Given the description of an element on the screen output the (x, y) to click on. 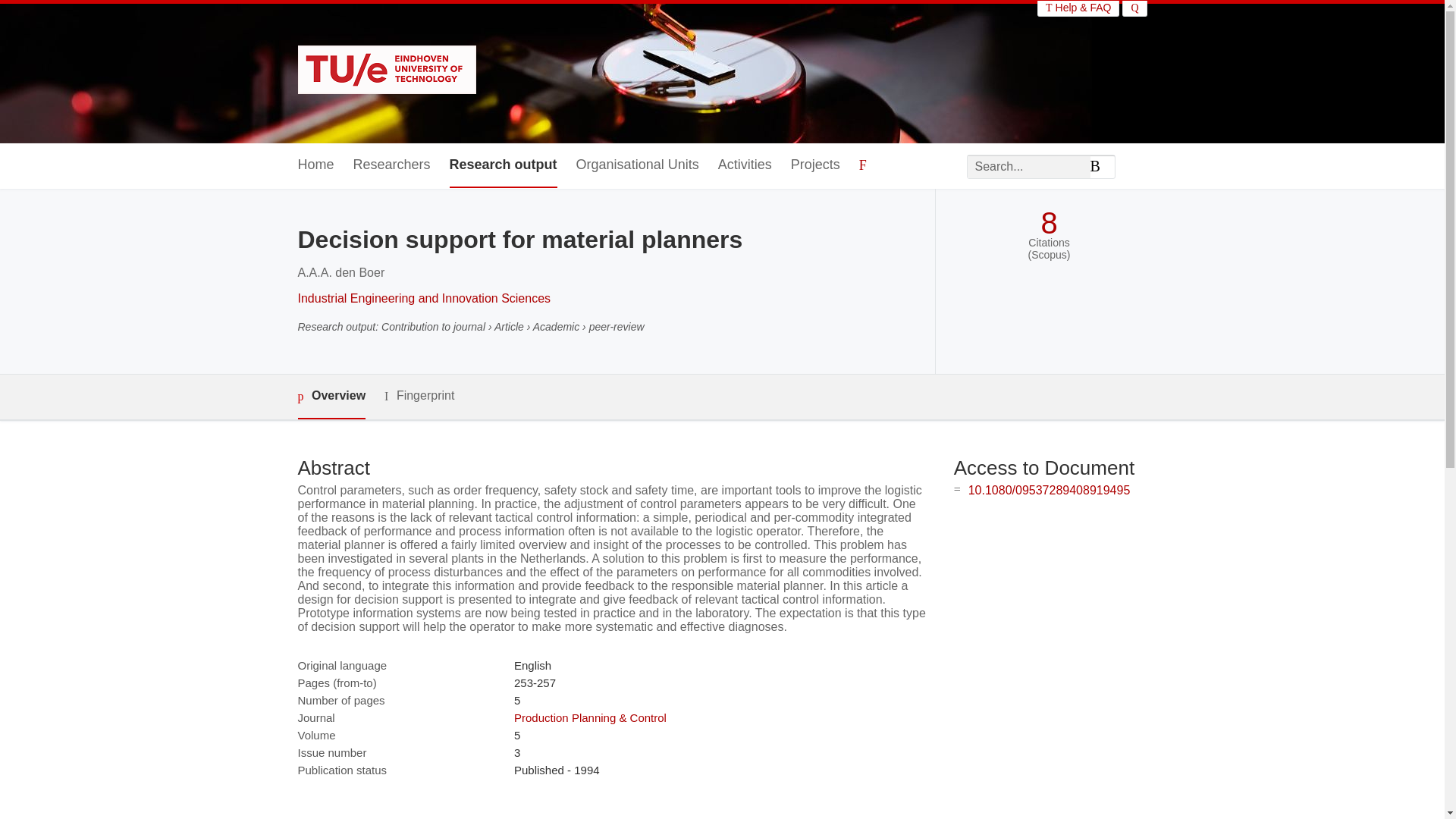
Fingerprint (419, 395)
Research output (503, 165)
Organisational Units (637, 165)
Activities (744, 165)
Researchers (391, 165)
Overview (331, 396)
Projects (815, 165)
Industrial Engineering and Innovation Sciences (423, 297)
Eindhoven University of Technology research portal Home (386, 71)
